Given the description of an element on the screen output the (x, y) to click on. 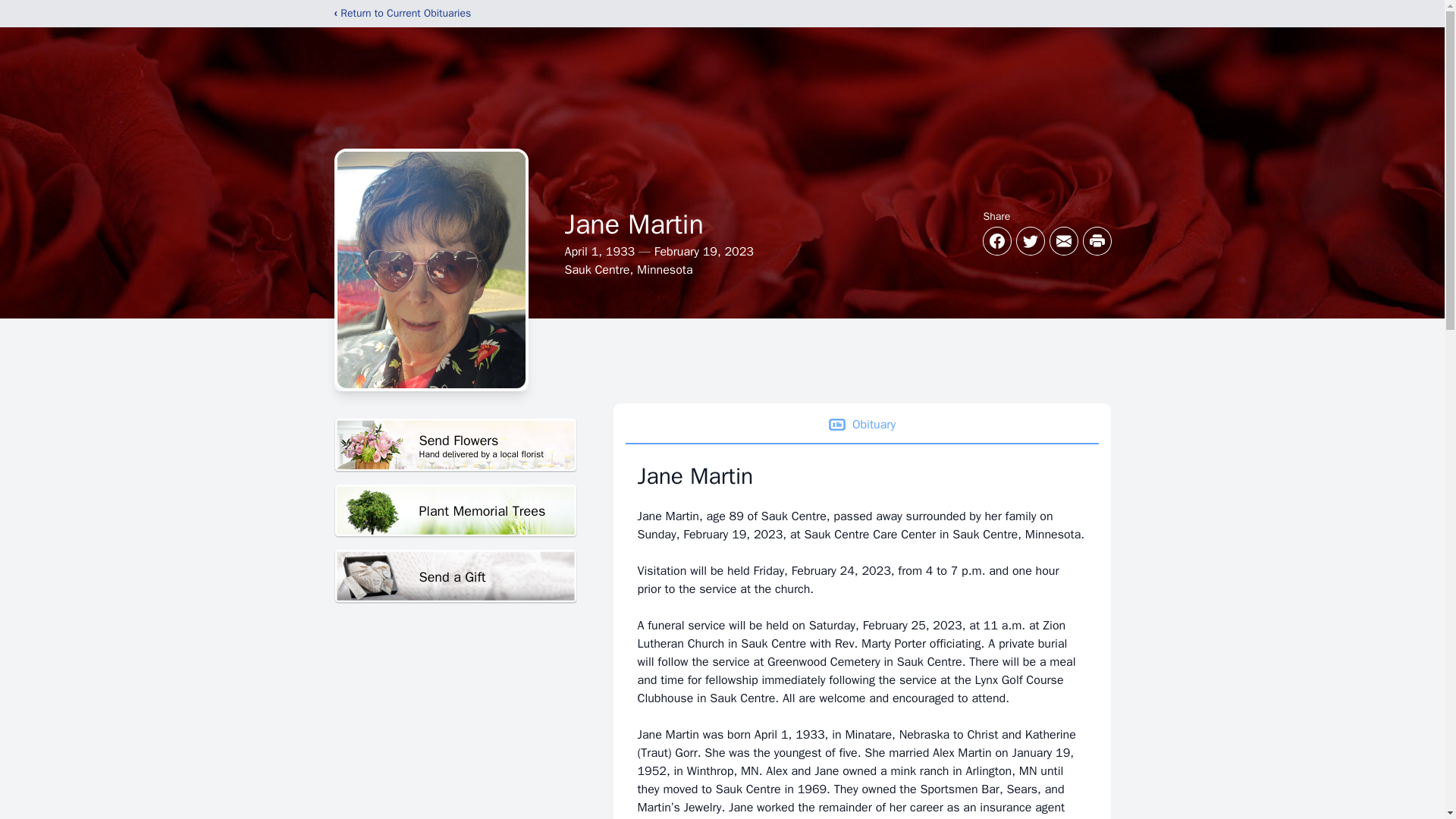
Obituary (860, 425)
Plant Memorial Trees (454, 511)
Send a Gift (454, 445)
